Given the description of an element on the screen output the (x, y) to click on. 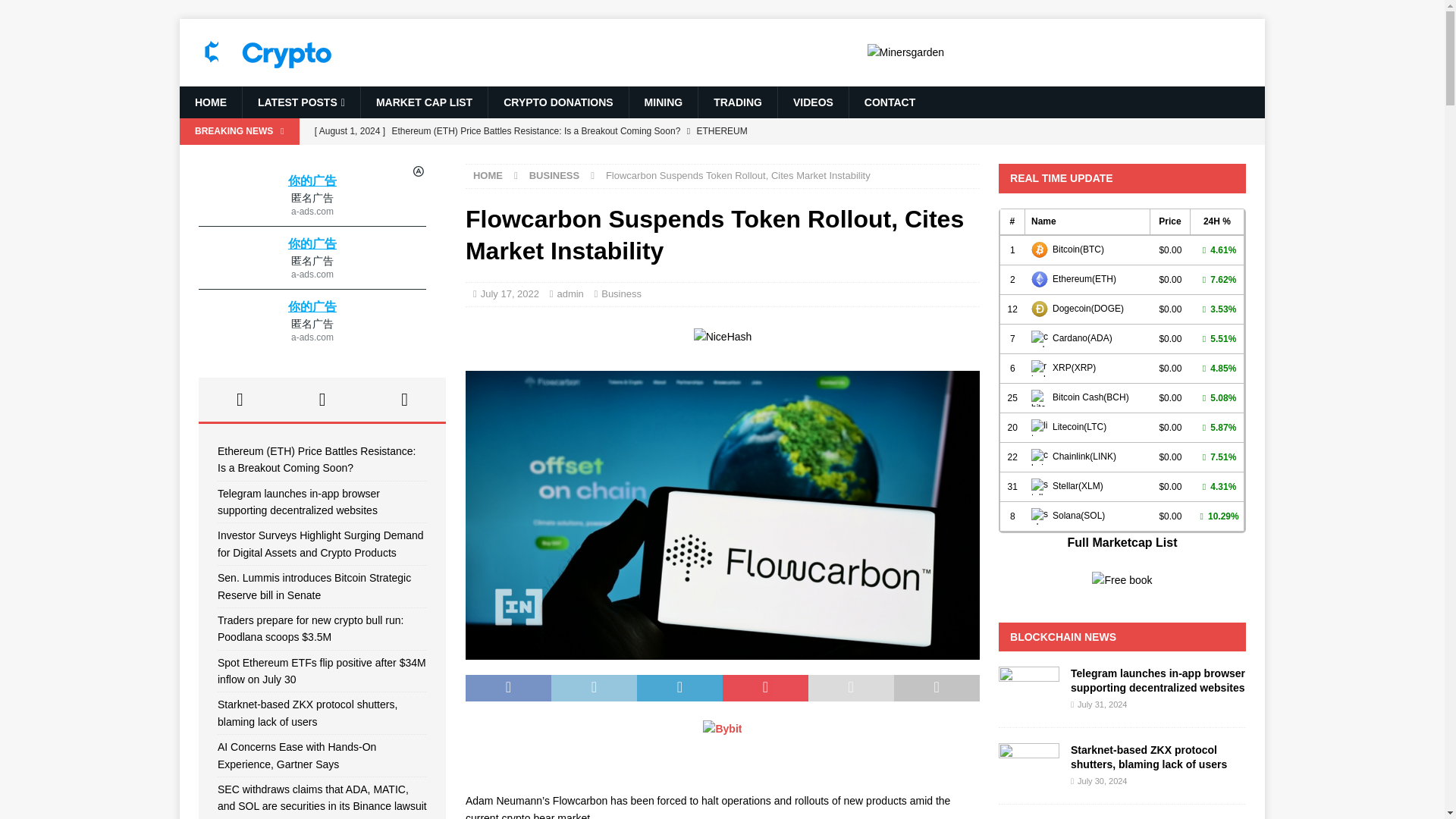
HOME (487, 174)
MARKET CAP LIST (423, 101)
HOME (210, 101)
TRADING (737, 101)
CRYPTO DONATIONS (557, 101)
admin (569, 293)
MINING (663, 101)
VIDEOS (812, 101)
Business (621, 293)
BUSINESS (554, 174)
July 17, 2022 (509, 293)
CONTACT (889, 101)
LATEST POSTS (300, 101)
